Given the description of an element on the screen output the (x, y) to click on. 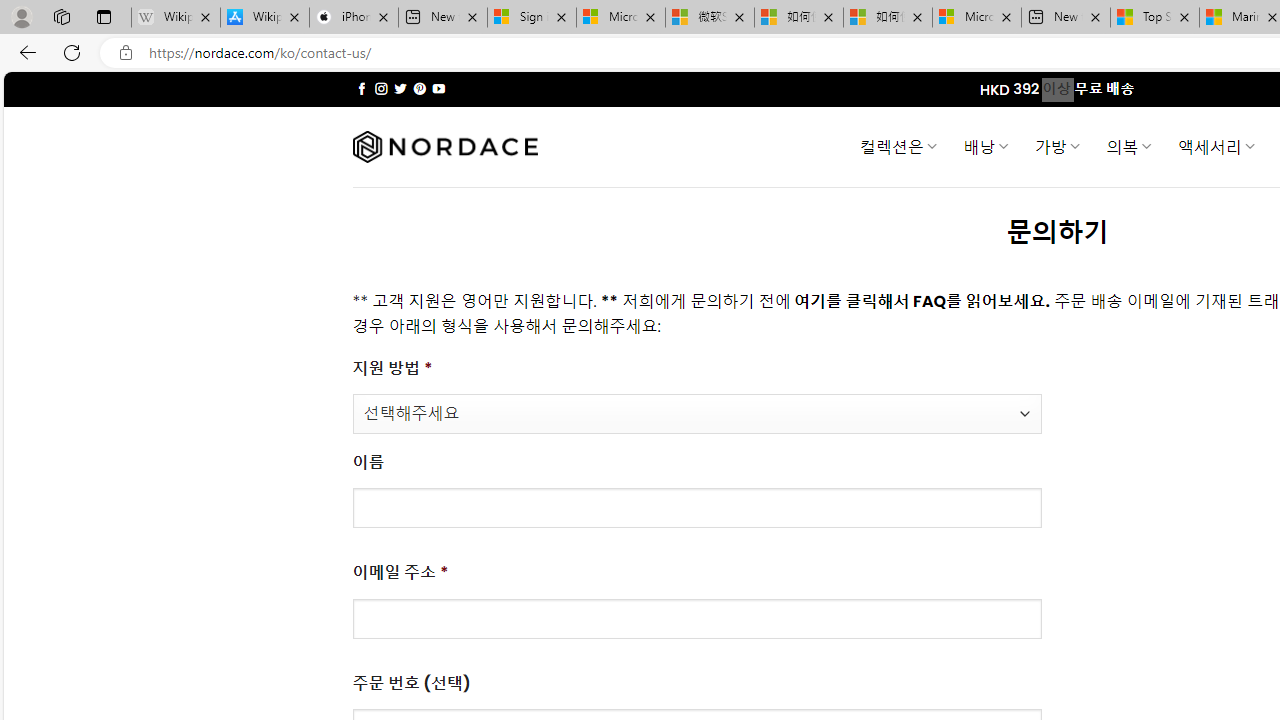
iPhone - Apple (353, 17)
